Given the description of an element on the screen output the (x, y) to click on. 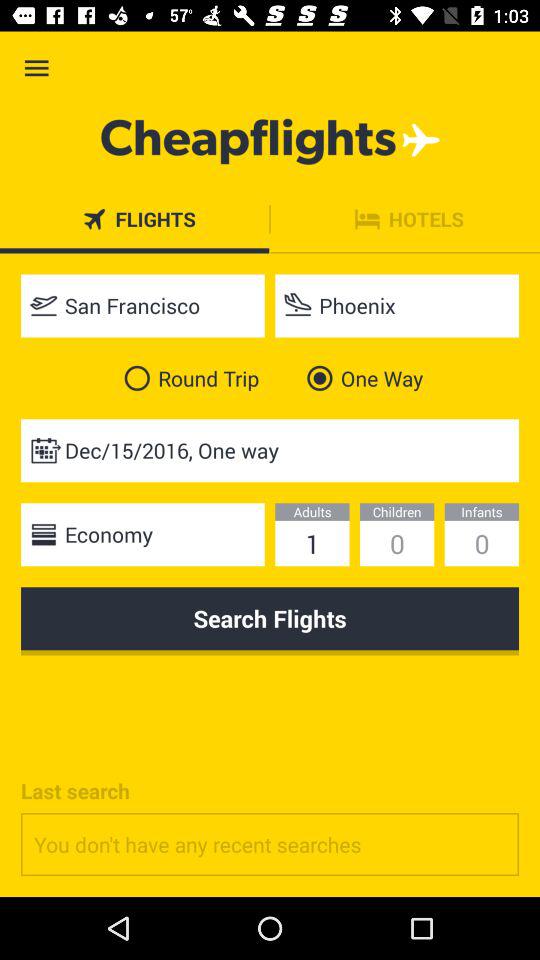
launch item above the dec 15 2016 item (187, 378)
